Given the description of an element on the screen output the (x, y) to click on. 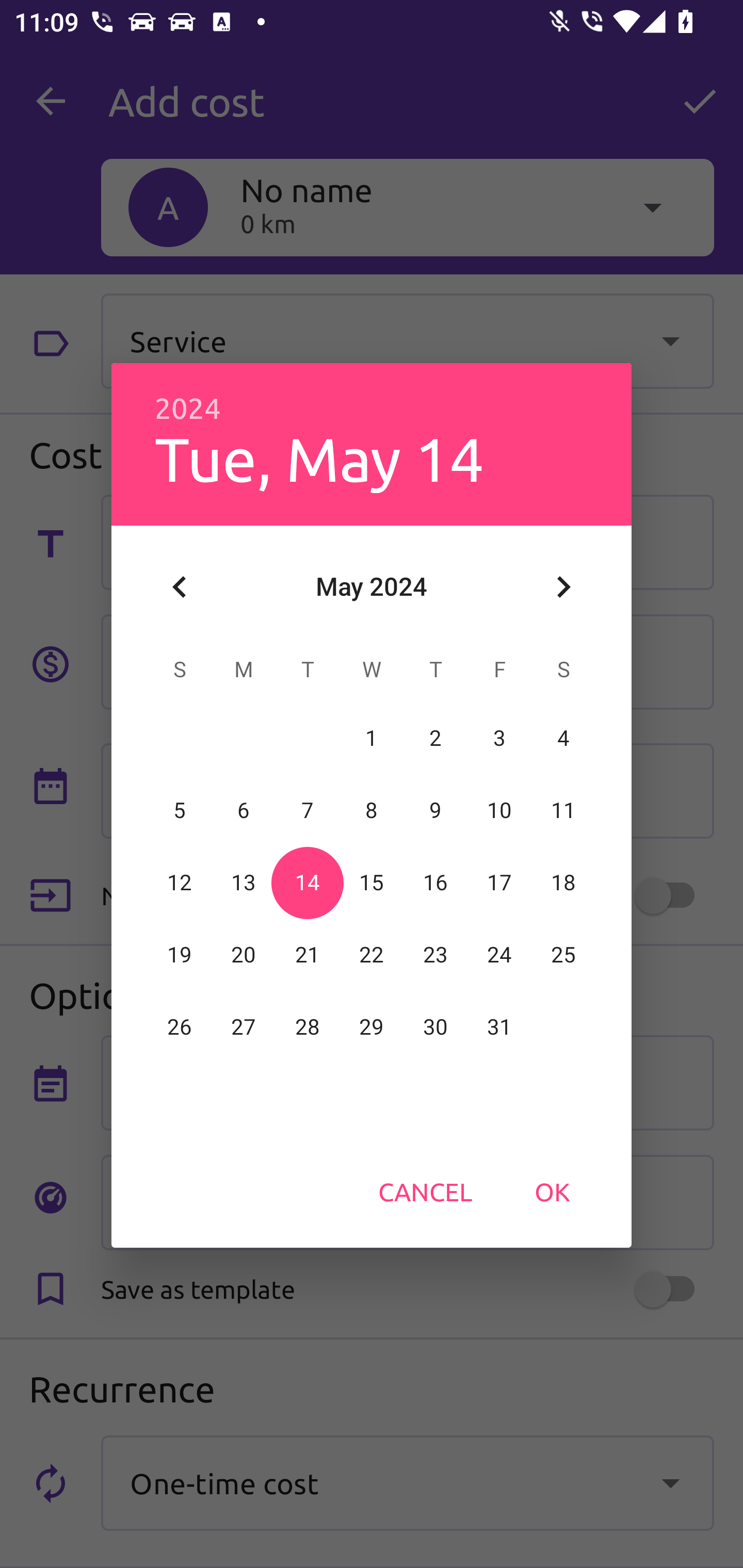
2024 (187, 408)
Tue, May 14 (319, 458)
Previous month (178, 587)
Next month (563, 587)
1 01 May 2024 (371, 738)
2 02 May 2024 (435, 738)
3 03 May 2024 (499, 738)
4 04 May 2024 (563, 738)
5 05 May 2024 (179, 810)
6 06 May 2024 (243, 810)
7 07 May 2024 (307, 810)
8 08 May 2024 (371, 810)
9 09 May 2024 (435, 810)
10 10 May 2024 (499, 810)
11 11 May 2024 (563, 810)
12 12 May 2024 (179, 882)
13 13 May 2024 (243, 882)
14 14 May 2024 (307, 882)
15 15 May 2024 (371, 882)
16 16 May 2024 (435, 882)
17 17 May 2024 (499, 882)
18 18 May 2024 (563, 882)
19 19 May 2024 (179, 954)
20 20 May 2024 (243, 954)
21 21 May 2024 (307, 954)
22 22 May 2024 (371, 954)
23 23 May 2024 (435, 954)
24 24 May 2024 (499, 954)
25 25 May 2024 (563, 954)
26 26 May 2024 (179, 1026)
27 27 May 2024 (243, 1026)
28 28 May 2024 (307, 1026)
29 29 May 2024 (371, 1026)
30 30 May 2024 (435, 1026)
31 31 May 2024 (499, 1026)
CANCEL (425, 1191)
OK (552, 1191)
